Given the description of an element on the screen output the (x, y) to click on. 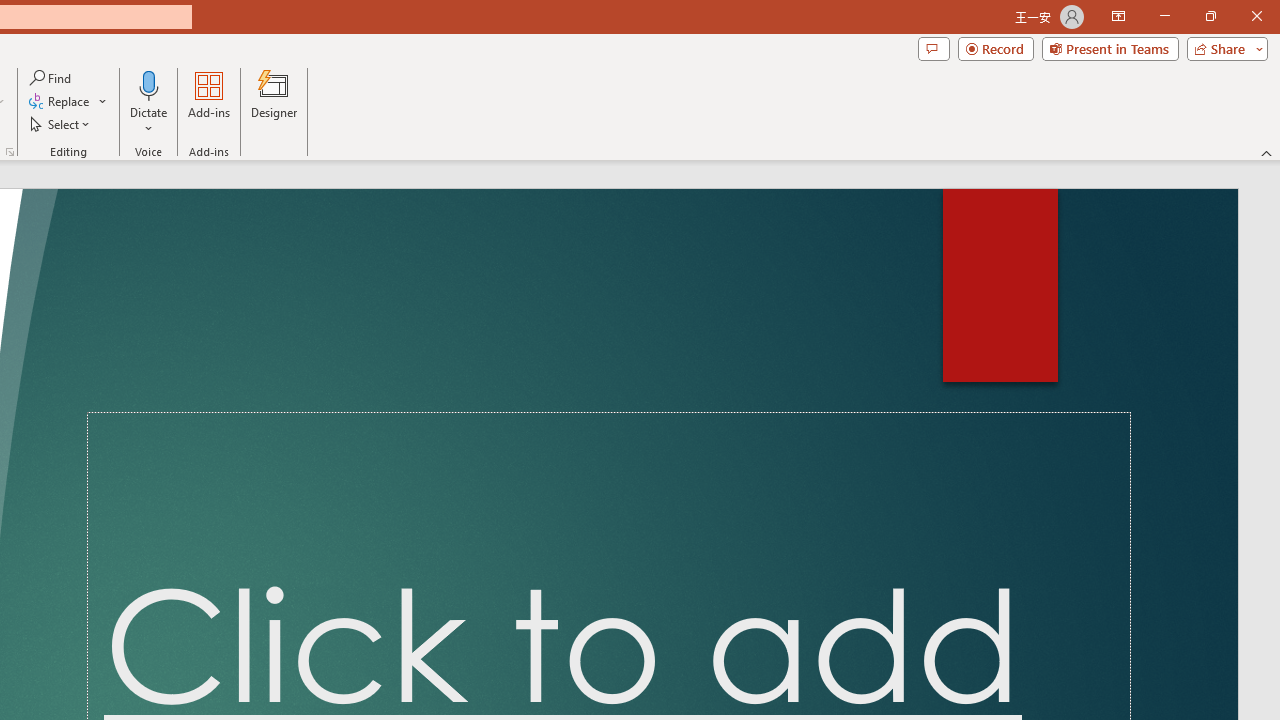
Format Object... (9, 151)
Find... (51, 78)
